Given the description of an element on the screen output the (x, y) to click on. 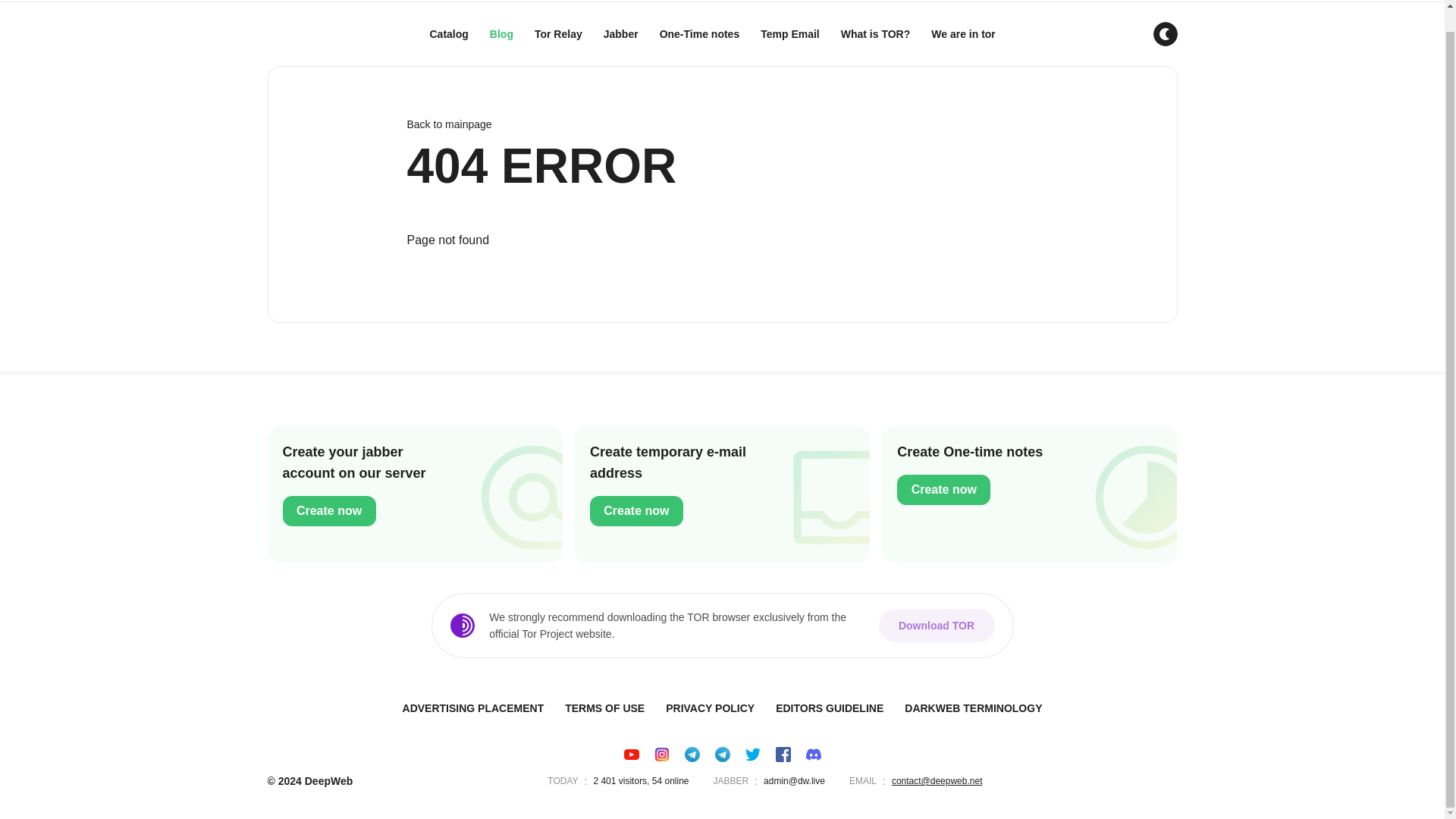
Discord (813, 754)
PocketDarkBot (691, 754)
DARKWEB TERMINOLOGY (972, 708)
Instagram (660, 754)
Catalog (722, 493)
TERMS OF USE (449, 34)
EDITORS GUIDELINE (604, 708)
Twitter (829, 708)
One-Time notes (752, 754)
Back to mainpage (700, 34)
Facebook (721, 124)
YouTube (782, 754)
Blog (631, 754)
